Given the description of an element on the screen output the (x, y) to click on. 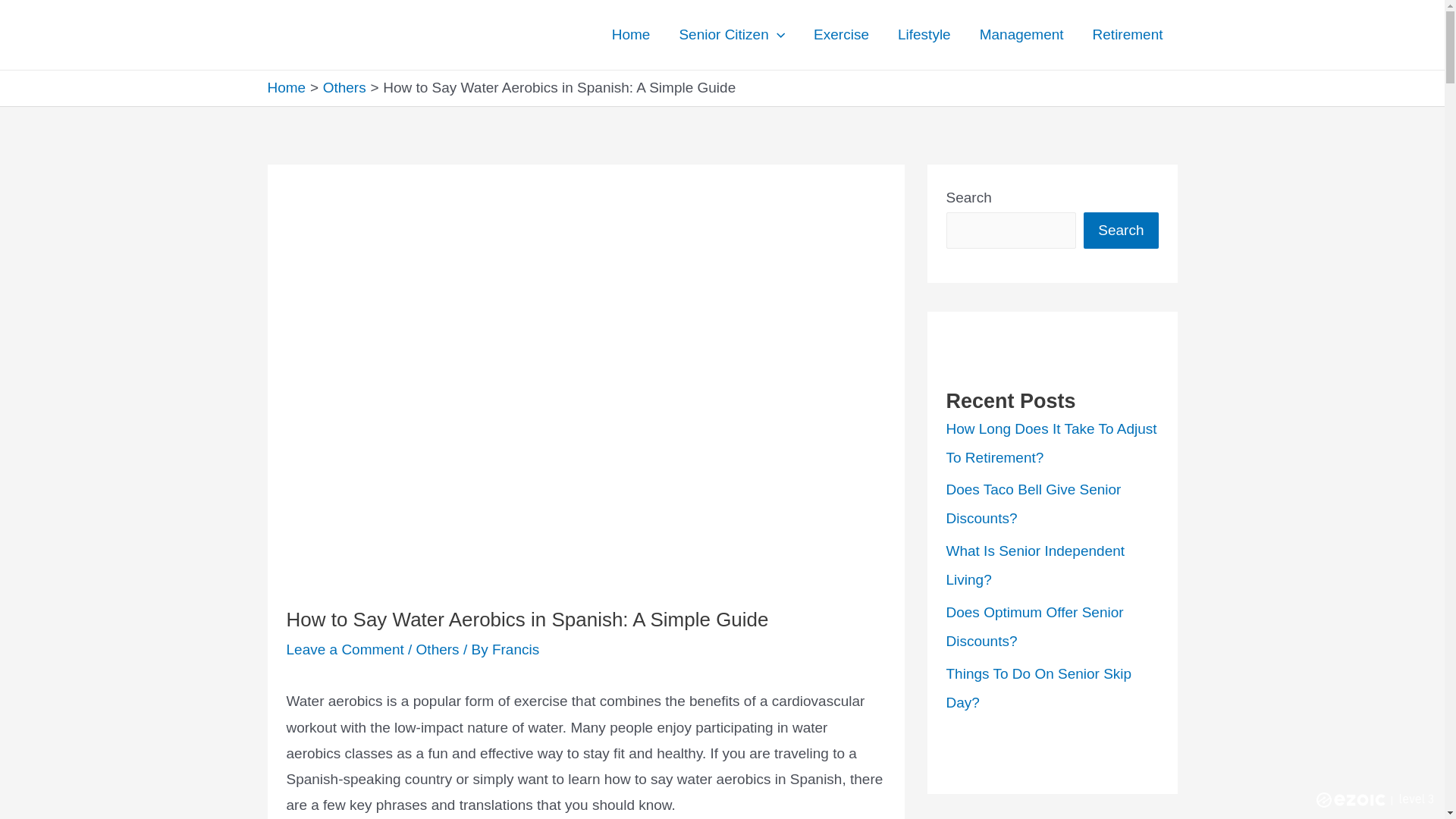
Senior Citizen (731, 34)
View all posts by Francis (515, 649)
Exercise (841, 34)
Lifestyle (924, 34)
Retirement (1127, 34)
Home (630, 34)
Management (1021, 34)
